Given the description of an element on the screen output the (x, y) to click on. 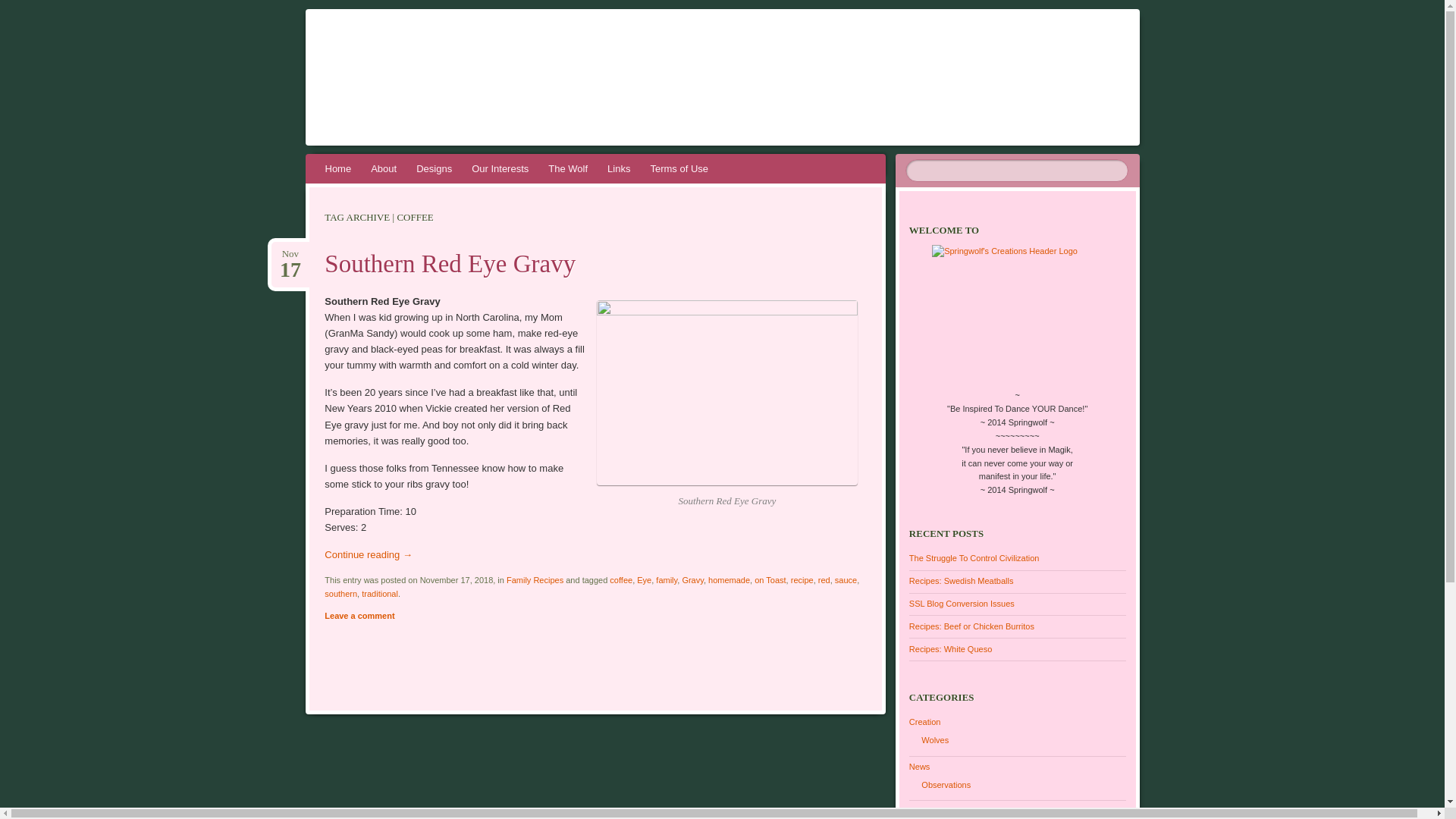
homemade (728, 579)
Search (21, 7)
Links (618, 168)
Designs (433, 168)
The Wolf (567, 168)
coffee (620, 579)
Skip to content (347, 168)
sauce (845, 579)
on Toast (770, 579)
family (666, 579)
Home (338, 168)
SSL Blog Conversion Issues (961, 603)
recipe (801, 579)
Recipes: Swedish Meatballs (960, 580)
